Given the description of an element on the screen output the (x, y) to click on. 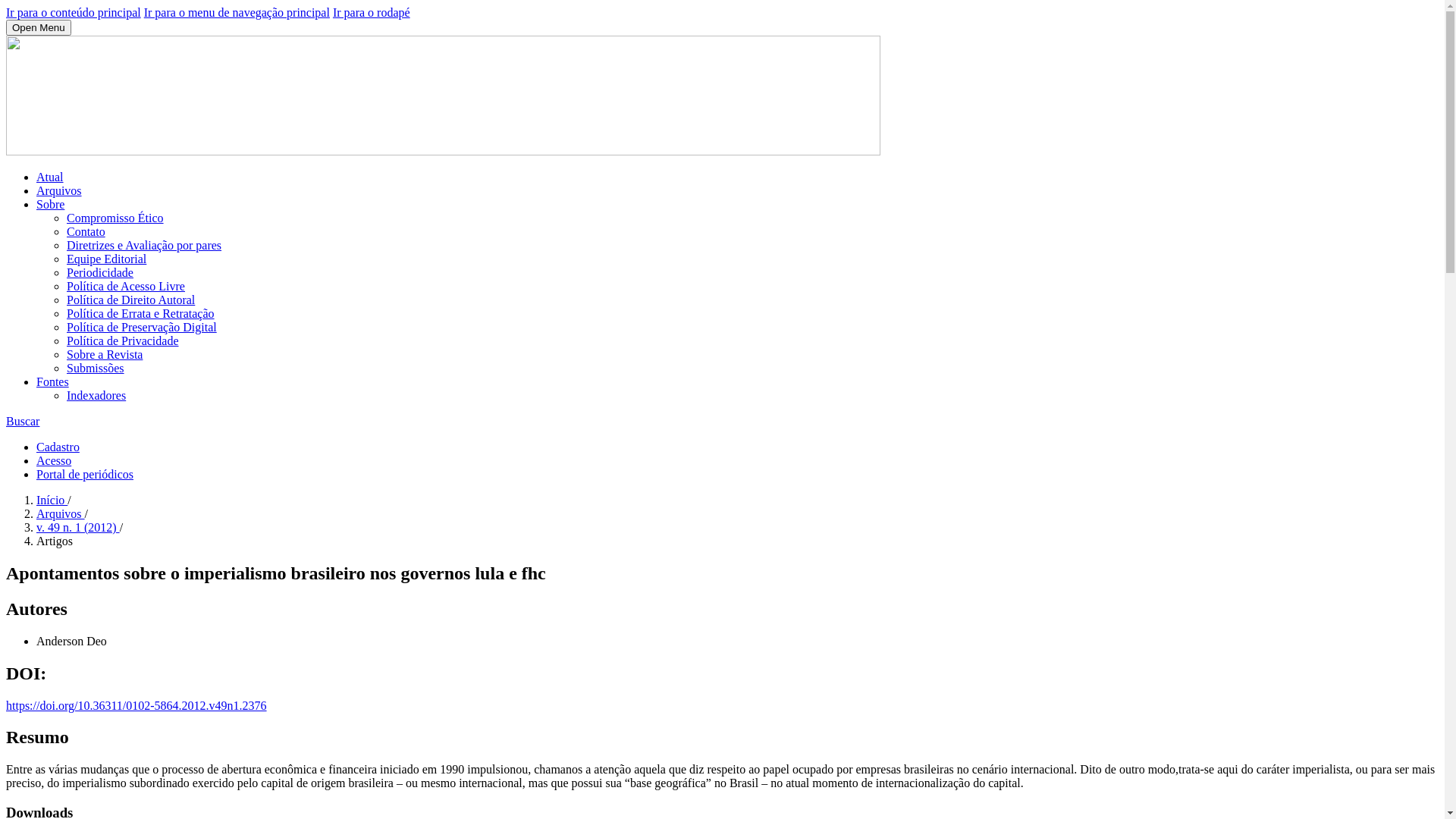
Arquivos Element type: text (60, 513)
Cadastro Element type: text (57, 446)
Buscar Element type: text (22, 420)
https://doi.org/10.36311/0102-5864.2012.v49n1.2376 Element type: text (136, 705)
Sobre Element type: text (50, 203)
Open Menu Element type: text (38, 27)
Periodicidade Element type: text (99, 272)
Contato Element type: text (85, 231)
Indexadores Element type: text (95, 395)
Arquivos Element type: text (58, 190)
Fontes Element type: text (52, 381)
Equipe Editorial Element type: text (106, 258)
Atual Element type: text (49, 176)
Acesso Element type: text (53, 460)
v. 49 n. 1 (2012) Element type: text (77, 526)
Sobre a Revista Element type: text (104, 354)
